Given the description of an element on the screen output the (x, y) to click on. 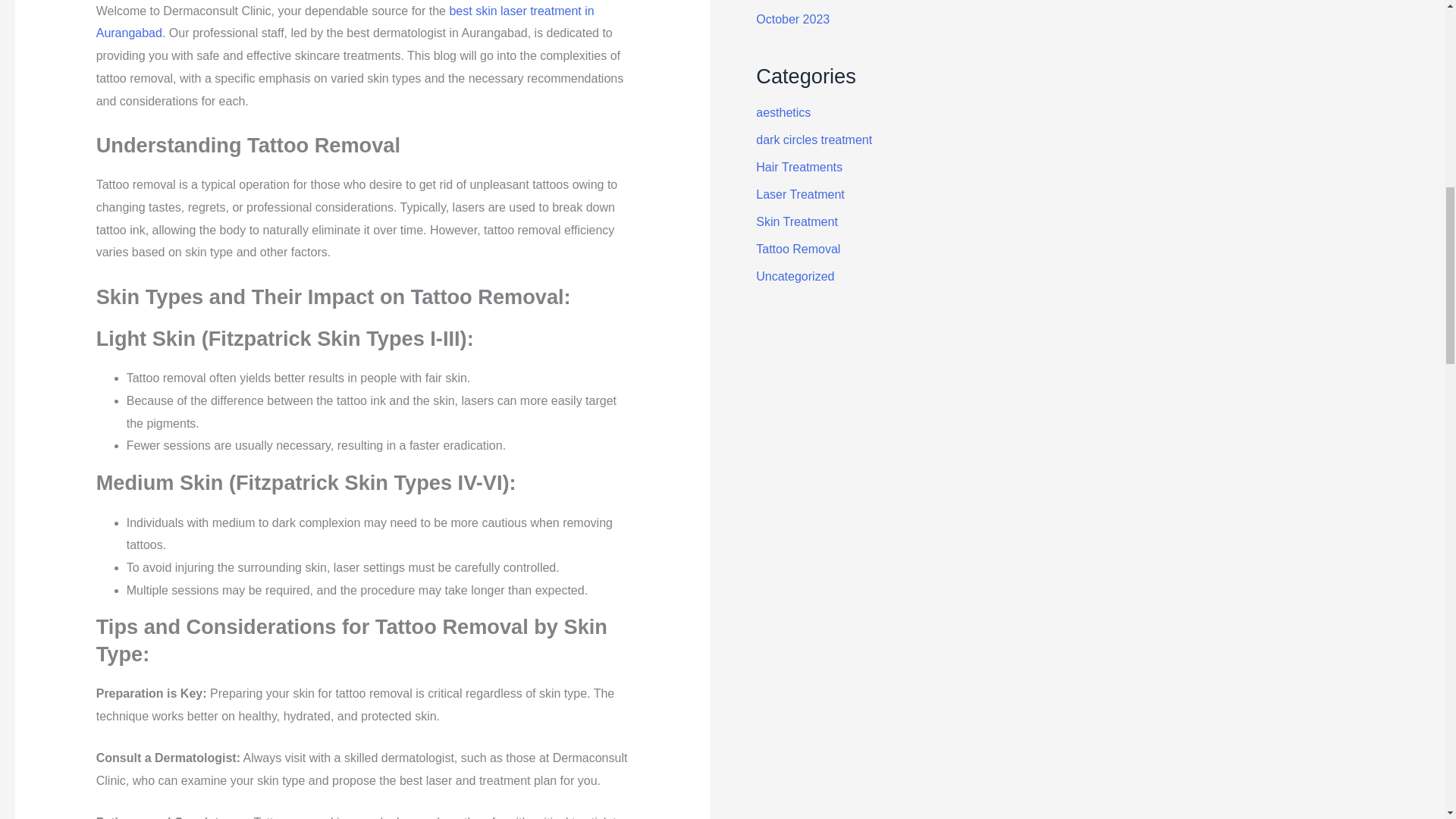
best skin laser treatment in Aurangabad (345, 22)
